Given the description of an element on the screen output the (x, y) to click on. 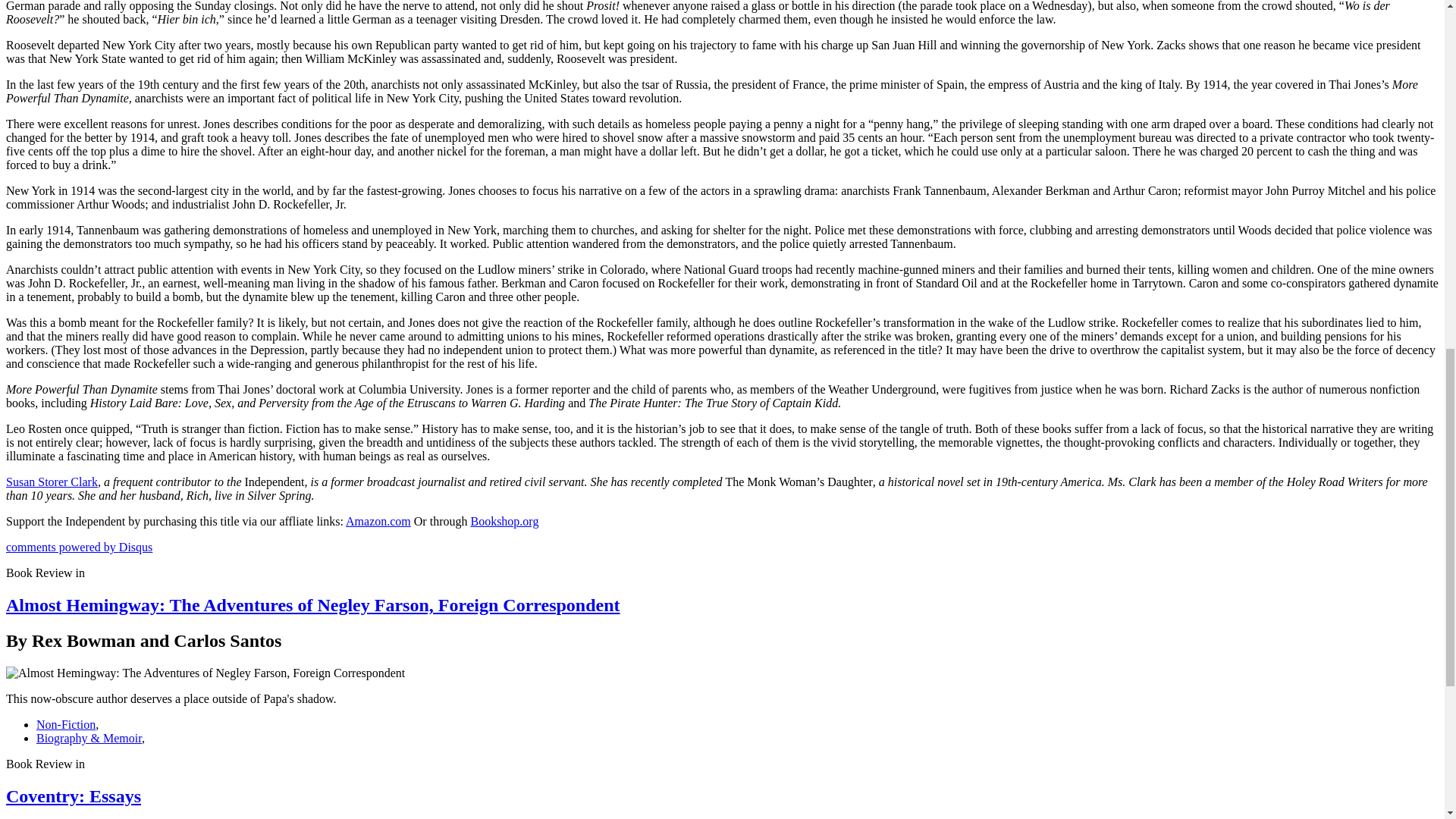
Bookshop.org (504, 521)
Coventry: Essays (73, 795)
Non-Fiction (66, 724)
Amazon.com (378, 521)
comments powered by Disqus (78, 546)
Susan Storer Clark (51, 481)
